Given the description of an element on the screen output the (x, y) to click on. 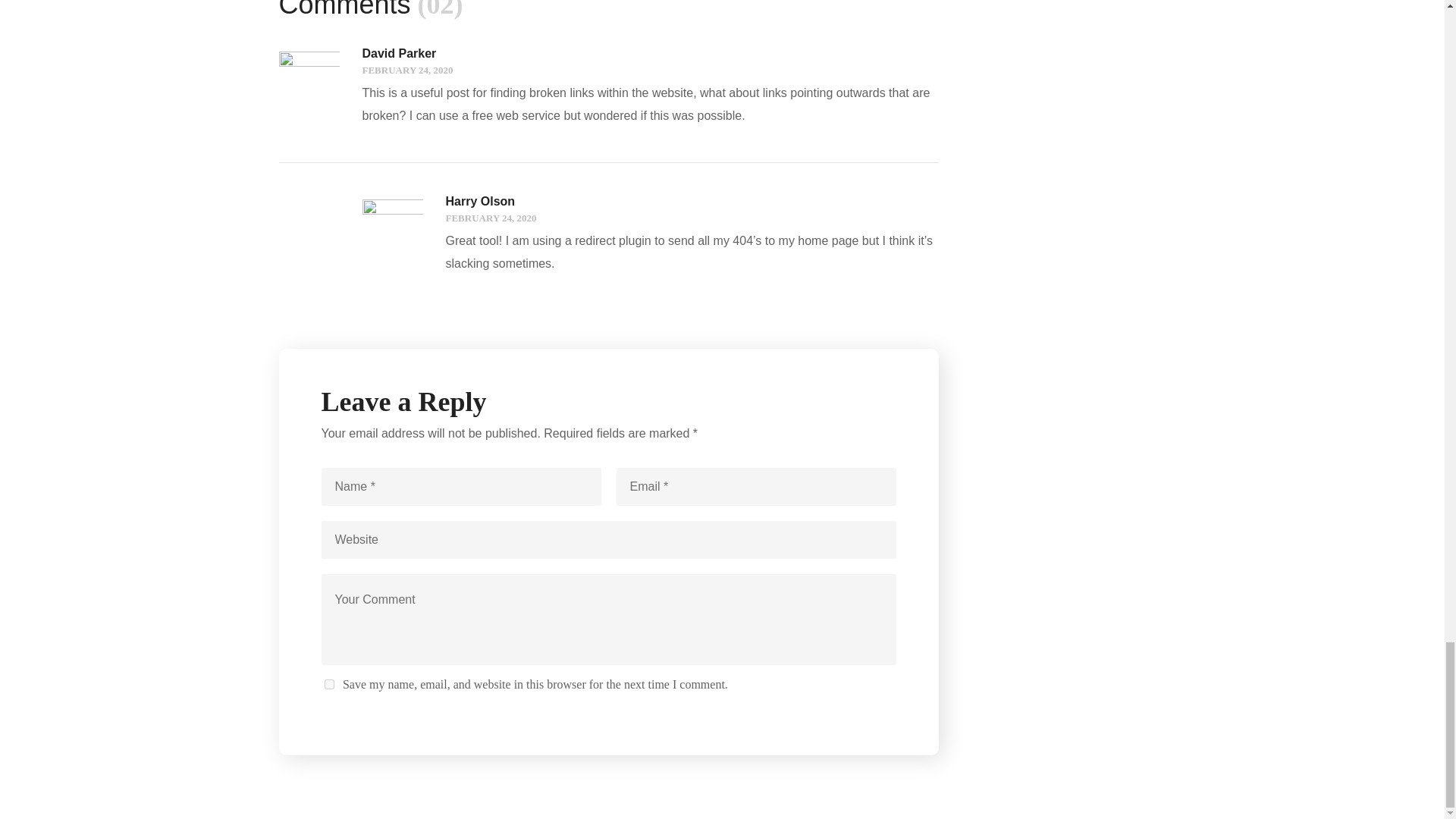
REPLY (920, 53)
Website (608, 539)
REPLY (920, 201)
yes (329, 684)
